Given the description of an element on the screen output the (x, y) to click on. 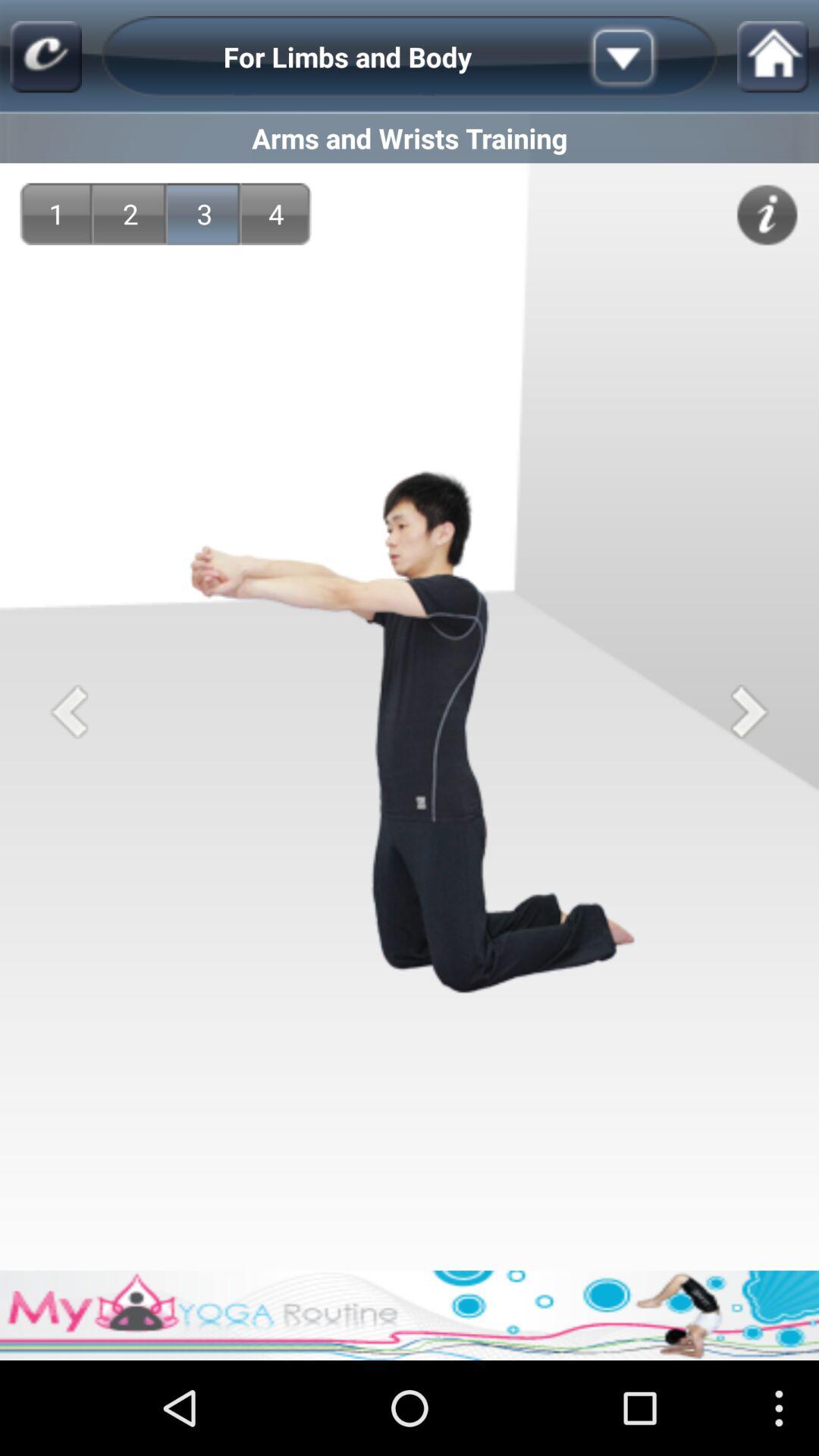
press item next to for limbs and item (646, 56)
